Given the description of an element on the screen output the (x, y) to click on. 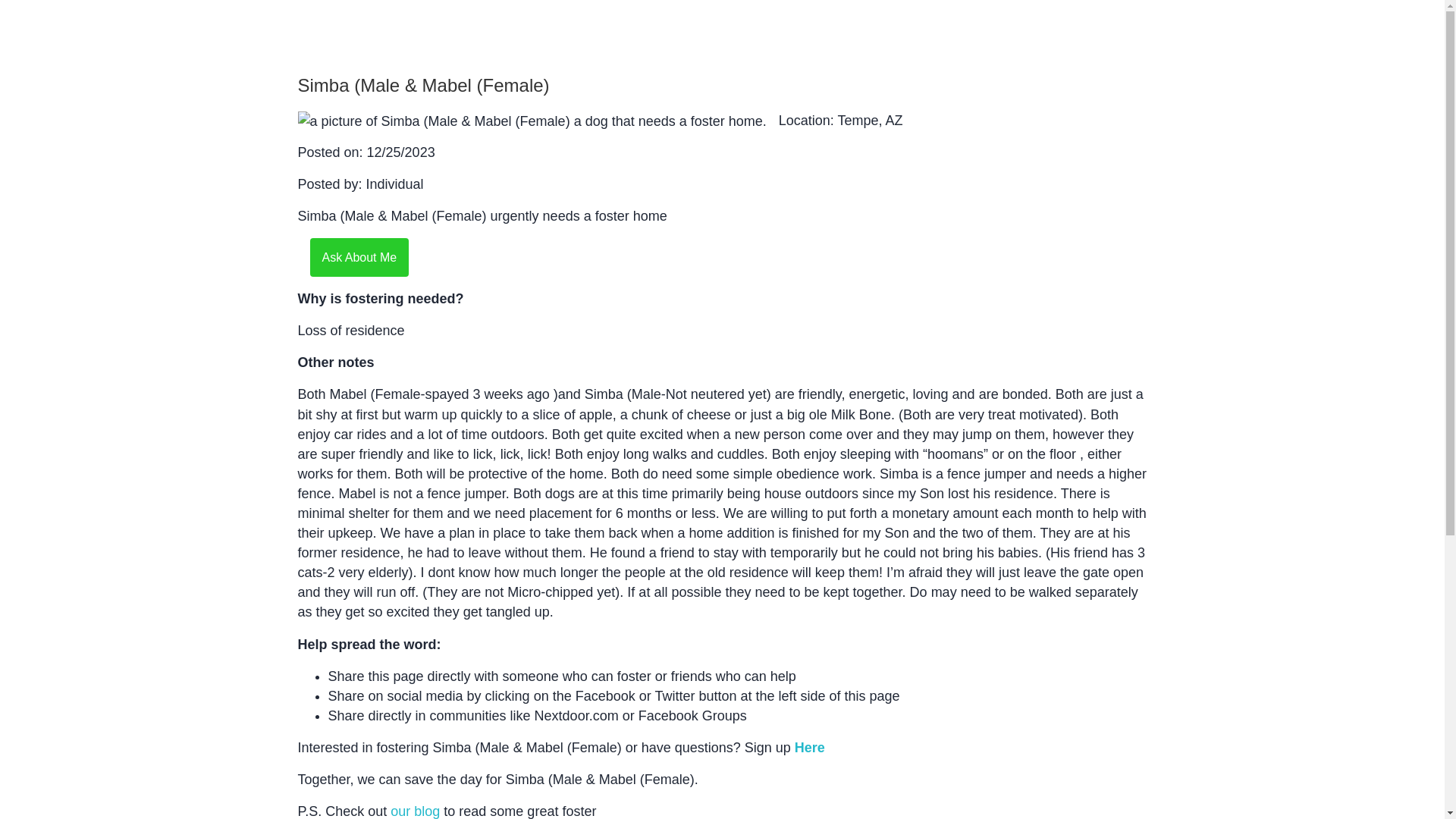
Ask About Me (358, 256)
Here (809, 747)
our blog (414, 811)
Ask About Me (358, 257)
our blog (414, 811)
